Given the description of an element on the screen output the (x, y) to click on. 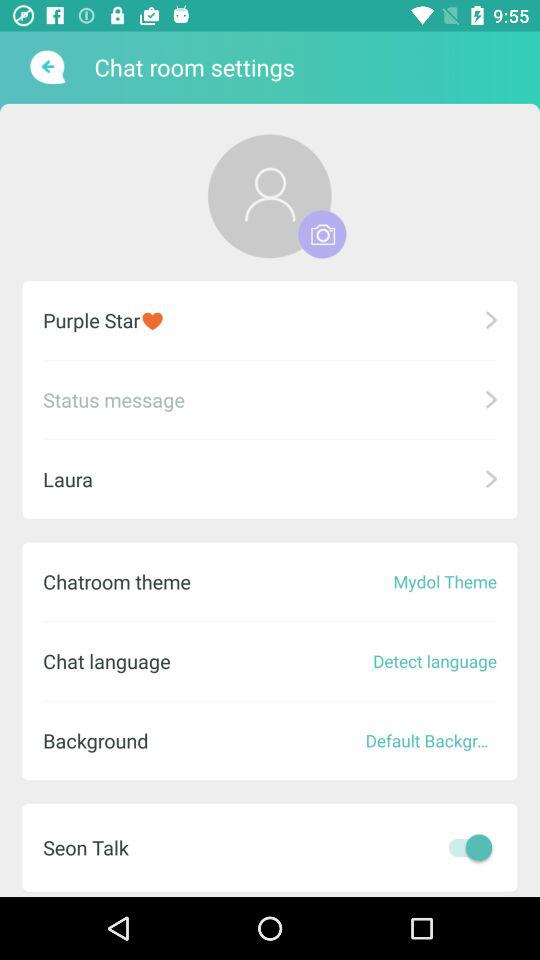
seon talk off and on (465, 847)
